Given the description of an element on the screen output the (x, y) to click on. 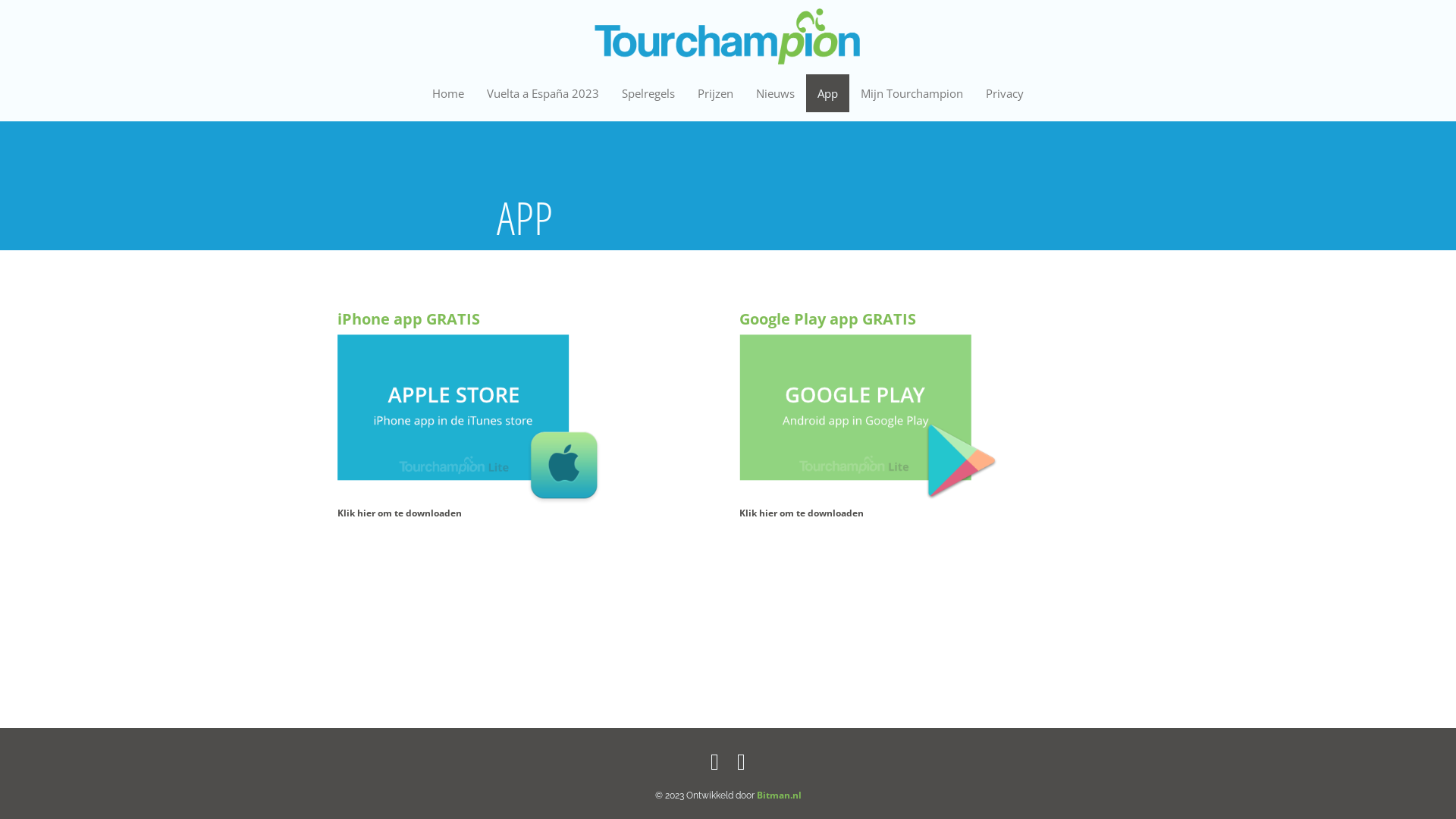
Klik hier om te downloaden Element type: text (399, 512)
Home Element type: text (447, 93)
Privacy Element type: text (1004, 93)
Nieuws Element type: text (775, 93)
Mijn Tourchampion Element type: text (911, 93)
Spelregels Element type: text (648, 93)
Bitman.nl Element type: text (778, 794)
Klik hier om te downloaden Element type: text (801, 512)
Prijzen Element type: text (715, 93)
App Element type: text (827, 93)
